Given the description of an element on the screen output the (x, y) to click on. 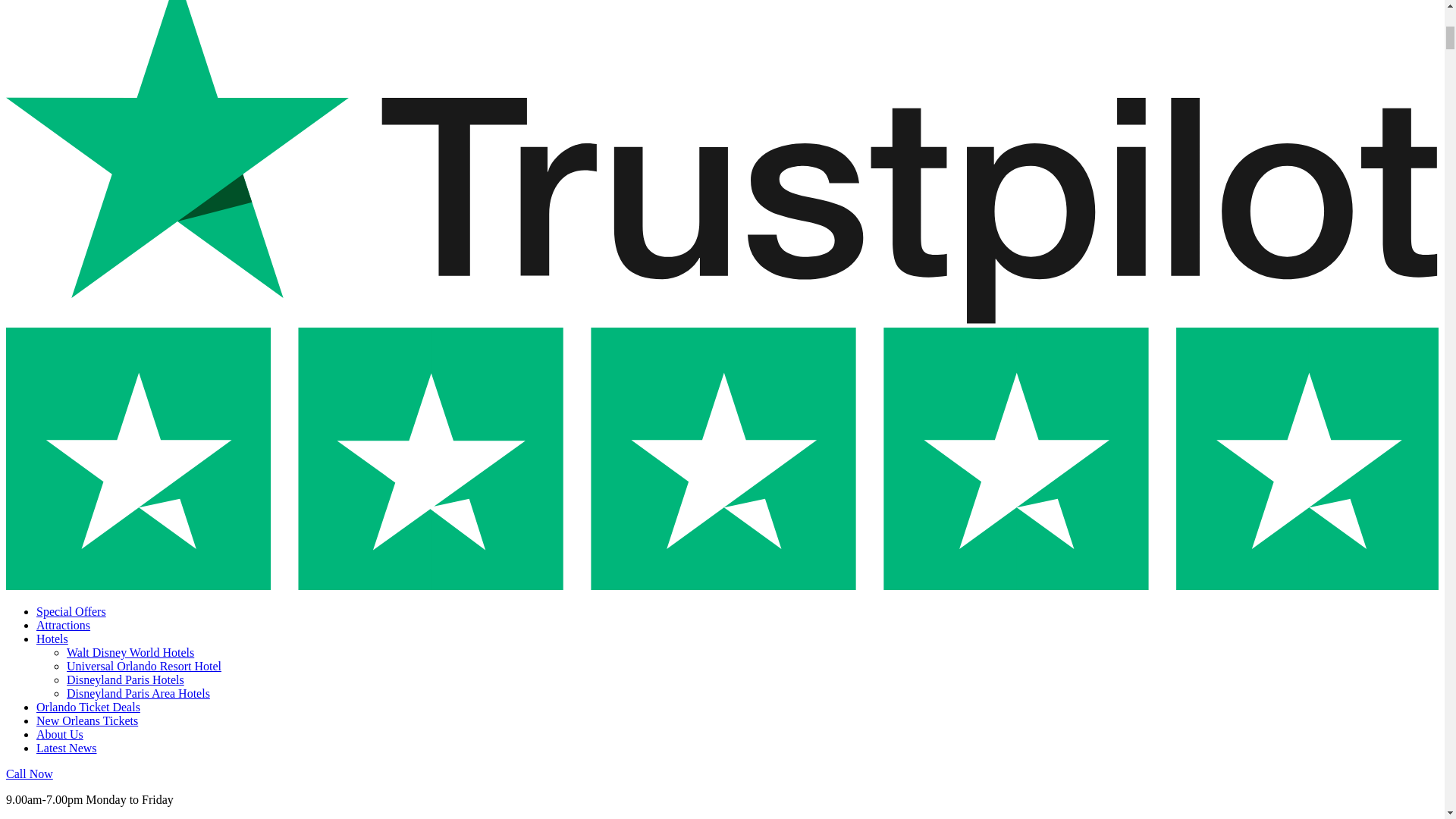
Special Offers (71, 611)
Universal Orlando Resort Hotel (143, 666)
Disneyland Paris Area Hotels (137, 693)
Disneyland Paris Hotels (125, 679)
New Orleans Tickets (87, 720)
About Us (59, 734)
Hotels (52, 638)
Latest News (66, 748)
Walt Disney World Hotels (129, 652)
Attractions (63, 625)
Orlando Ticket Deals (87, 707)
